Given the description of an element on the screen output the (x, y) to click on. 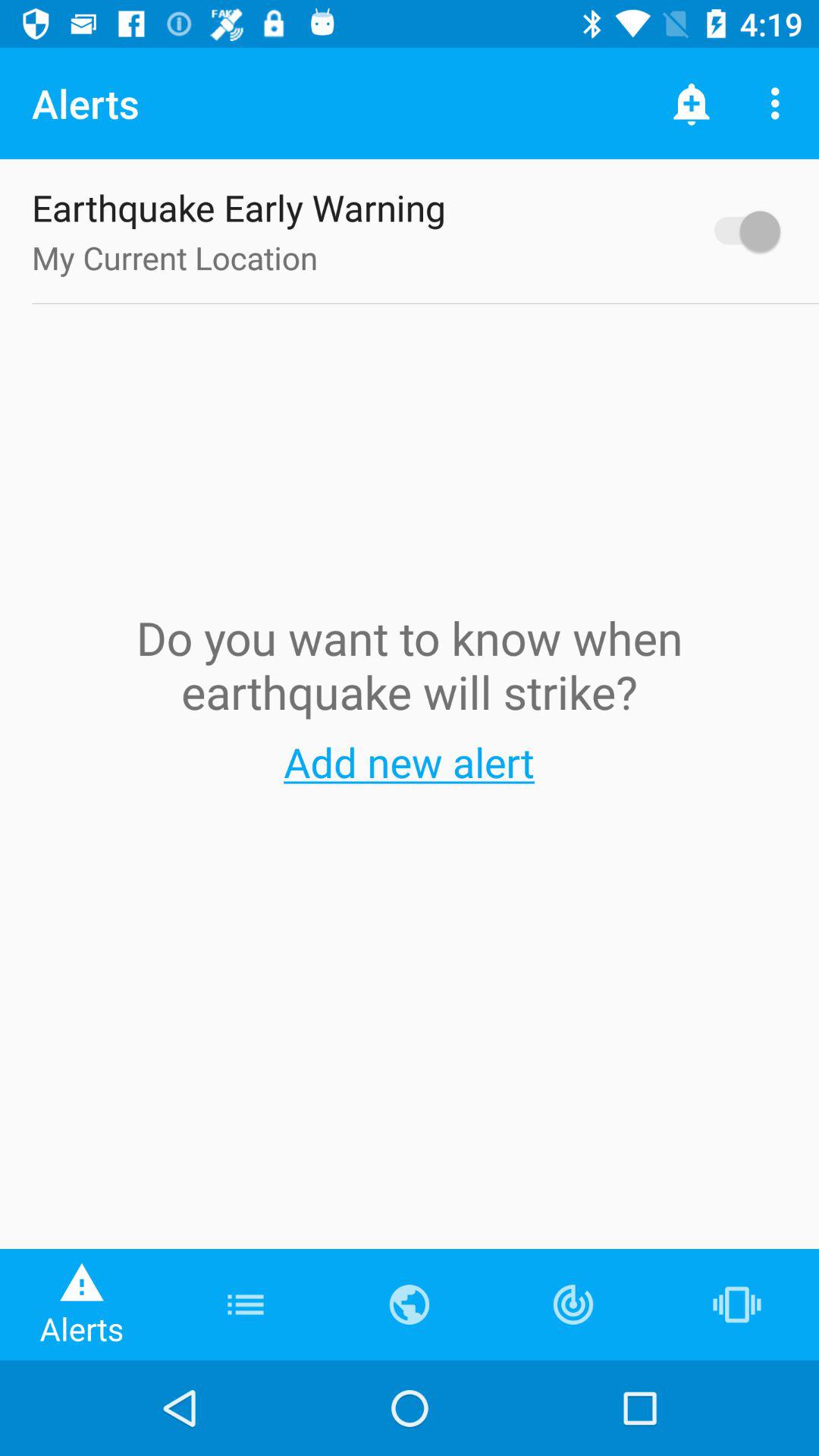
enable warning (739, 231)
